Given the description of an element on the screen output the (x, y) to click on. 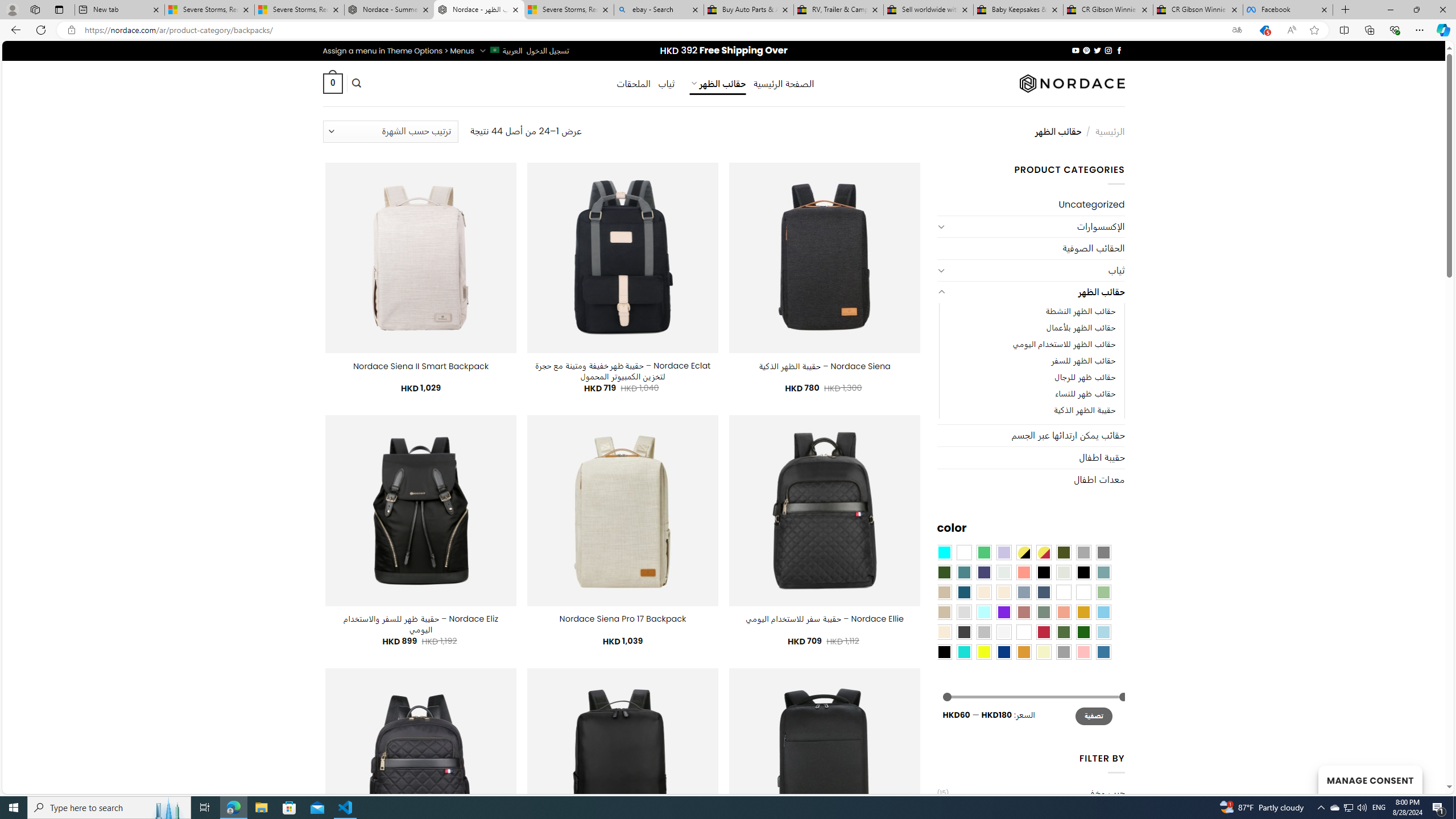
Assign a menu in Theme Options > Menus (397, 50)
Follow on Twitter (1096, 50)
